Given the description of an element on the screen output the (x, y) to click on. 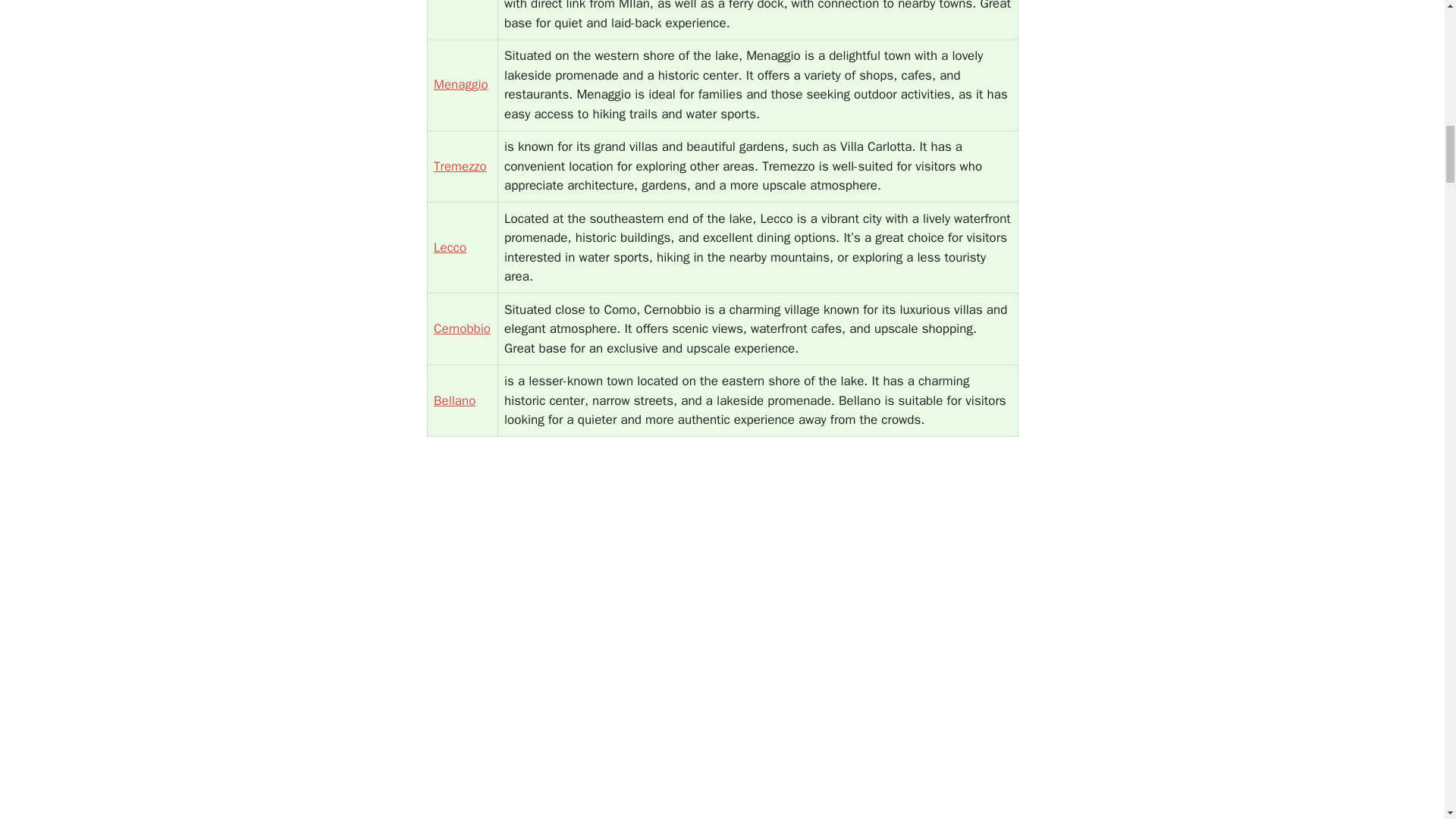
Bellano (454, 400)
Tremezzo (459, 166)
Menaggio (460, 84)
Cernobbio (461, 328)
Varenna (456, 0)
Lecco (449, 247)
